Given the description of an element on the screen output the (x, y) to click on. 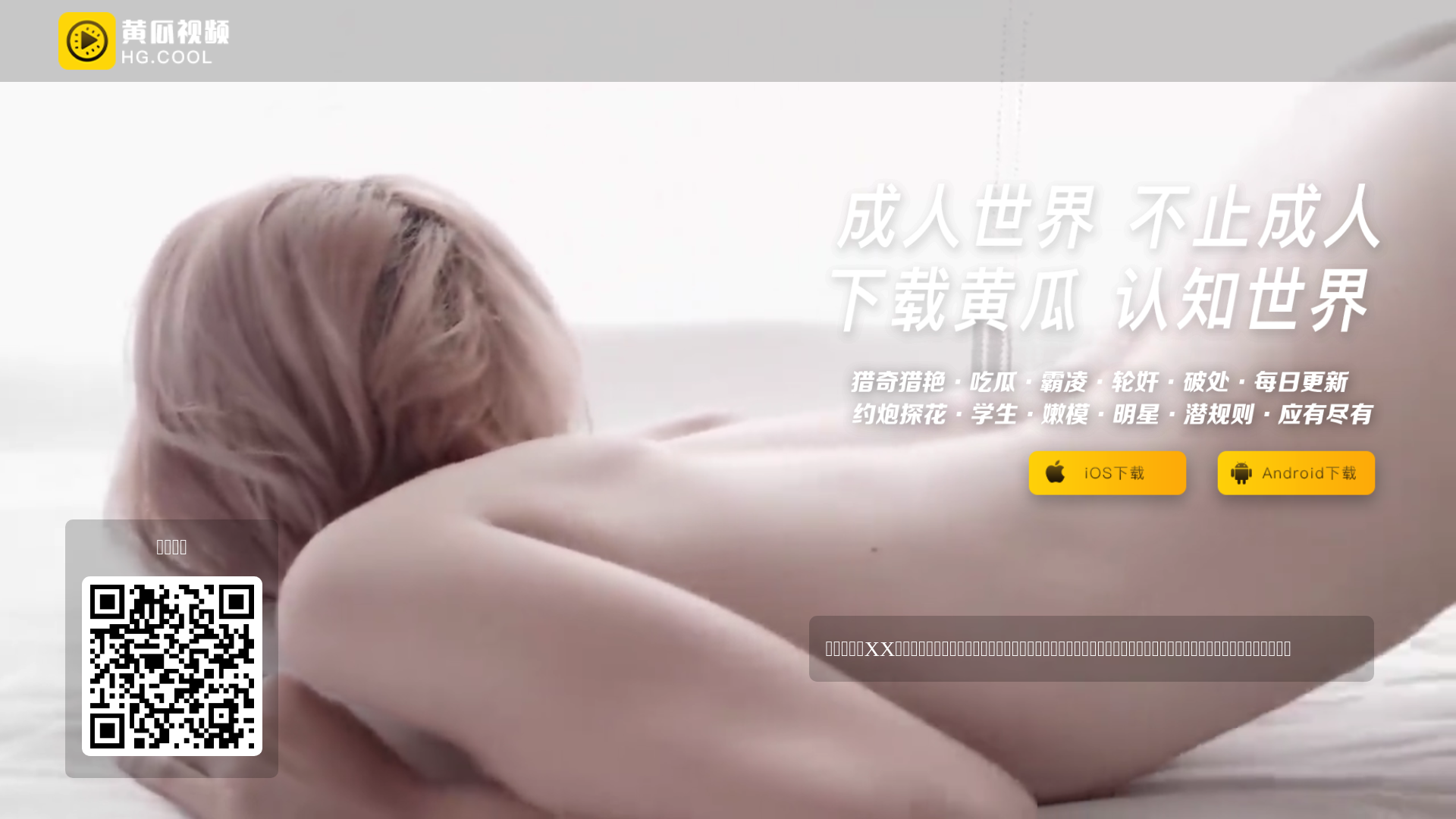
https://3dsf9fs.com/?_c=ofrr1xb Element type: hover (171, 666)
